Given the description of an element on the screen output the (x, y) to click on. 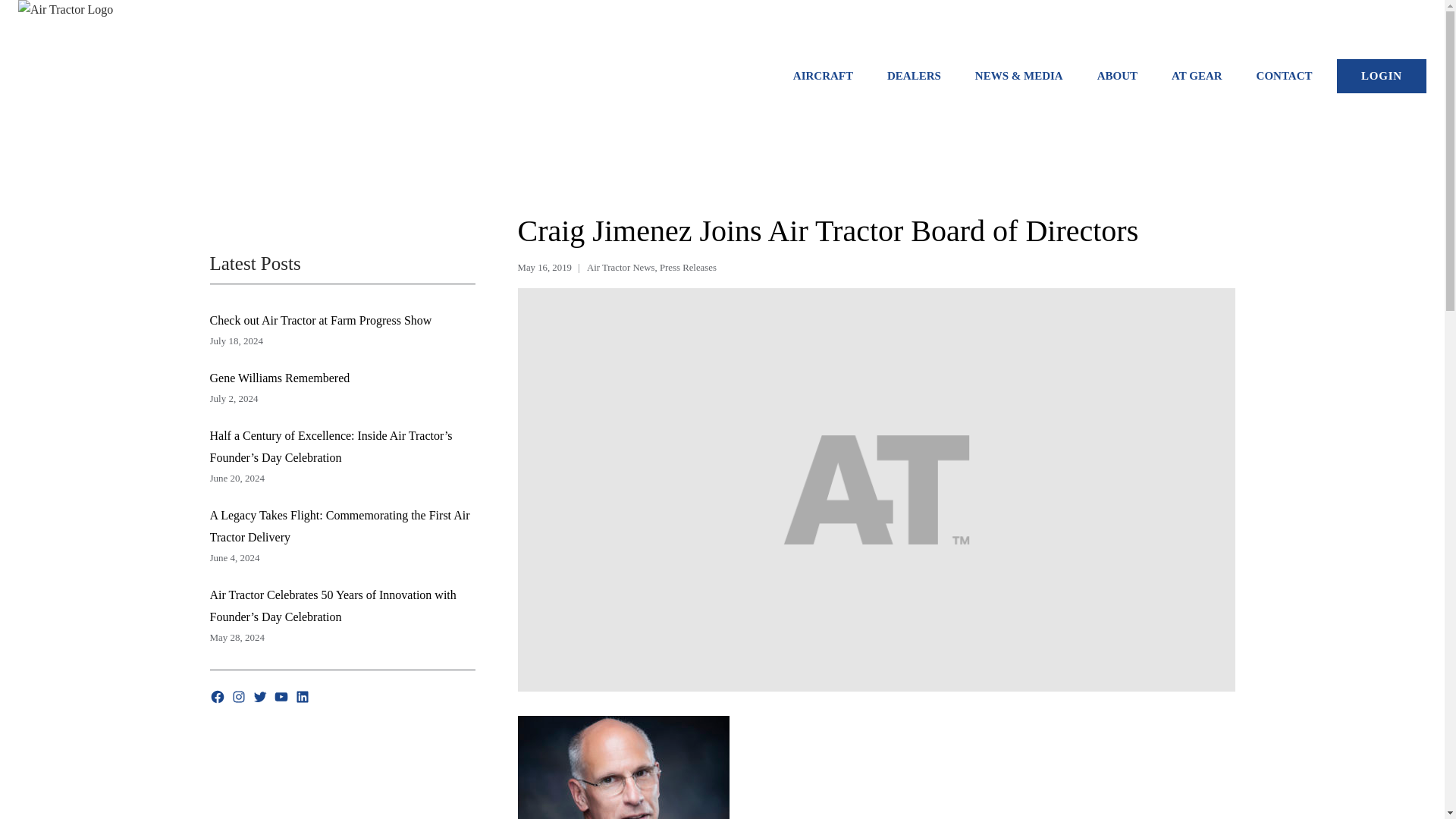
YouTube (280, 696)
Check out Air Tractor at Farm Progress Show (319, 319)
Gene Williams Remembered (279, 377)
AIRCRAFT (822, 75)
LOGIN (1381, 75)
CONTACT (1284, 75)
LinkedIn (301, 696)
Instagram (238, 696)
AT GEAR (1197, 75)
